Given the description of an element on the screen output the (x, y) to click on. 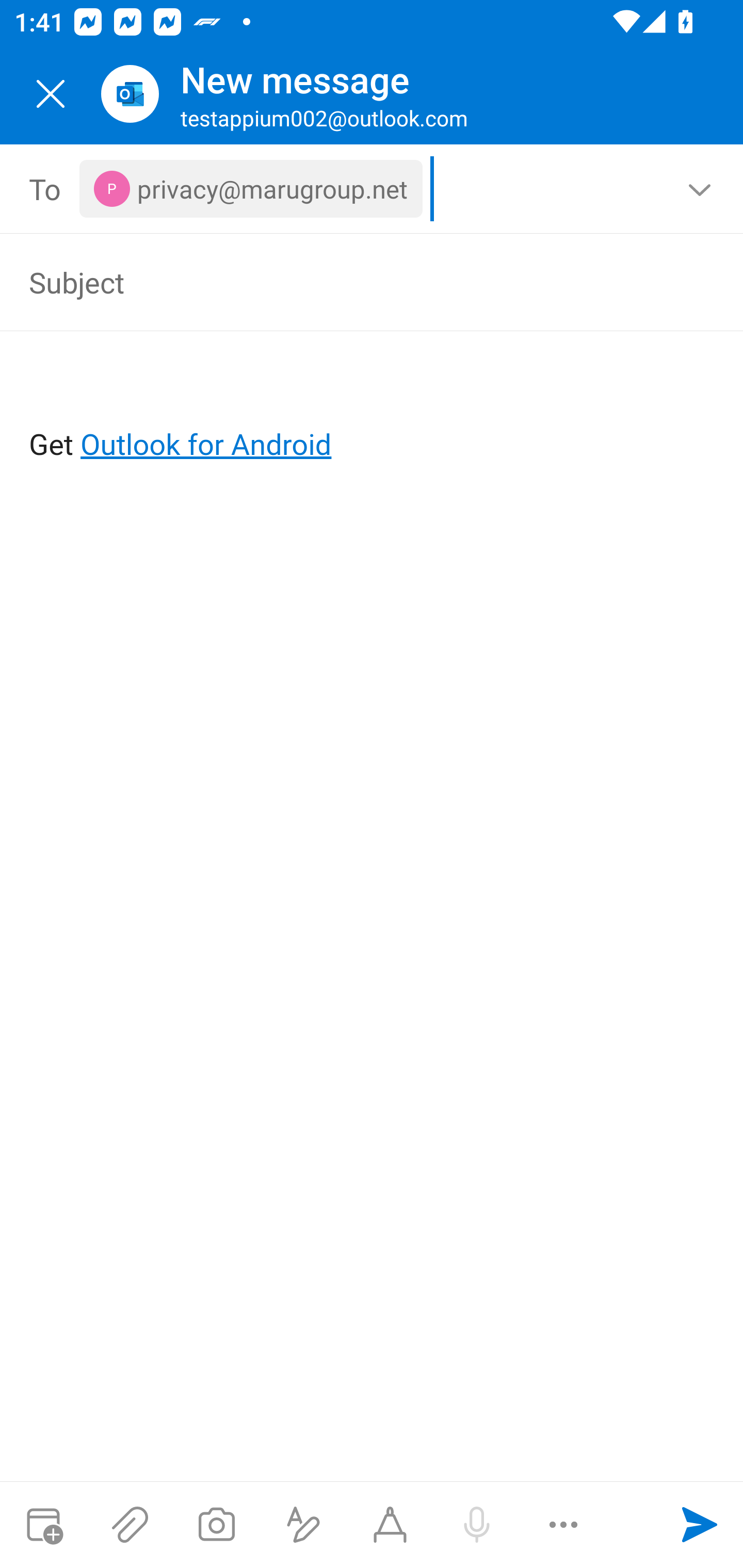
Close (50, 93)
Subject (342, 281)


Get Outlook for Android (372, 411)
Attach meeting (43, 1524)
Attach files (129, 1524)
Take a photo (216, 1524)
Show formatting options (303, 1524)
Start Ink compose (389, 1524)
More options (563, 1524)
Send (699, 1524)
